Given the description of an element on the screen output the (x, y) to click on. 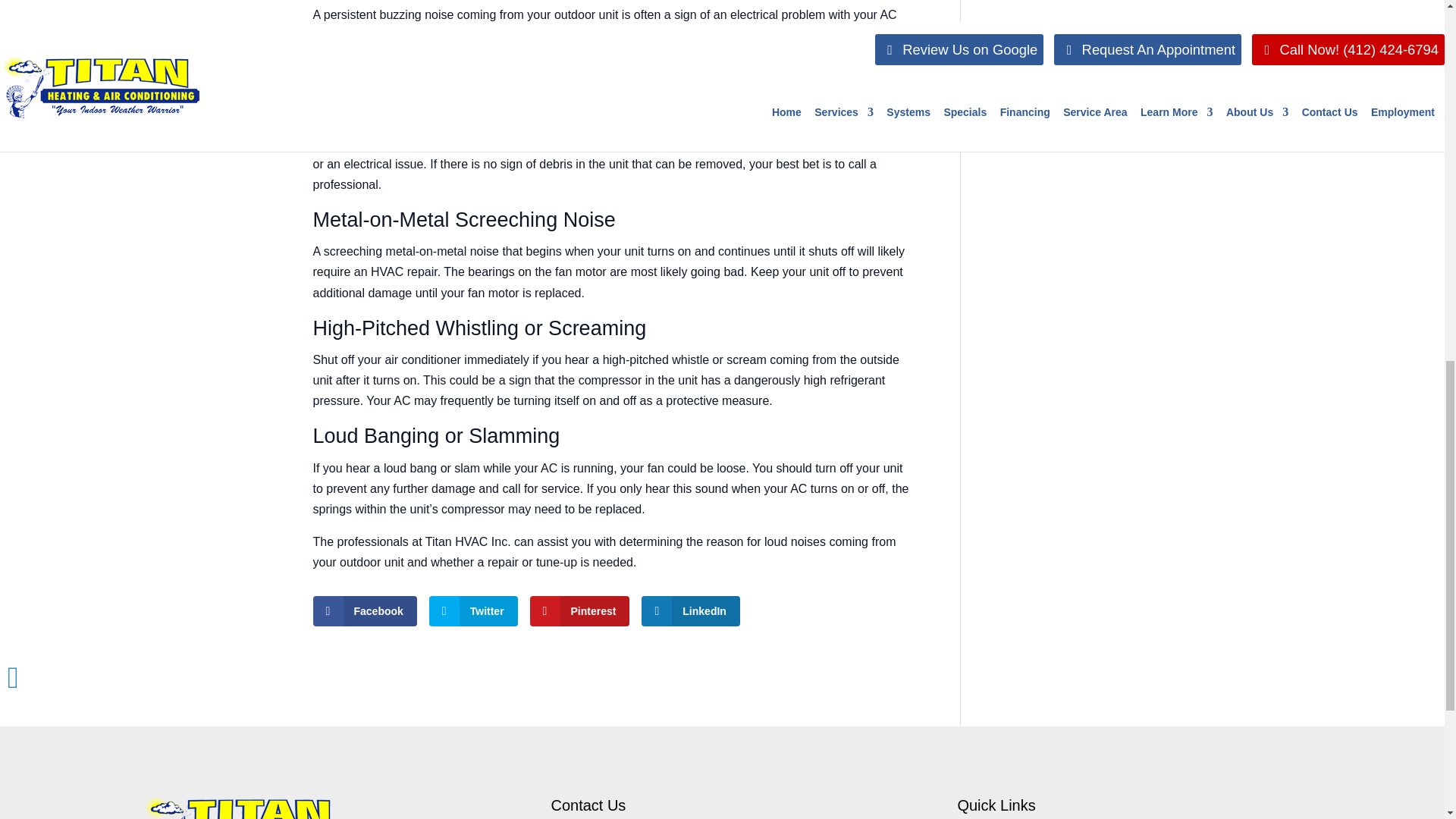
Search (1106, 41)
